Given the description of an element on the screen output the (x, y) to click on. 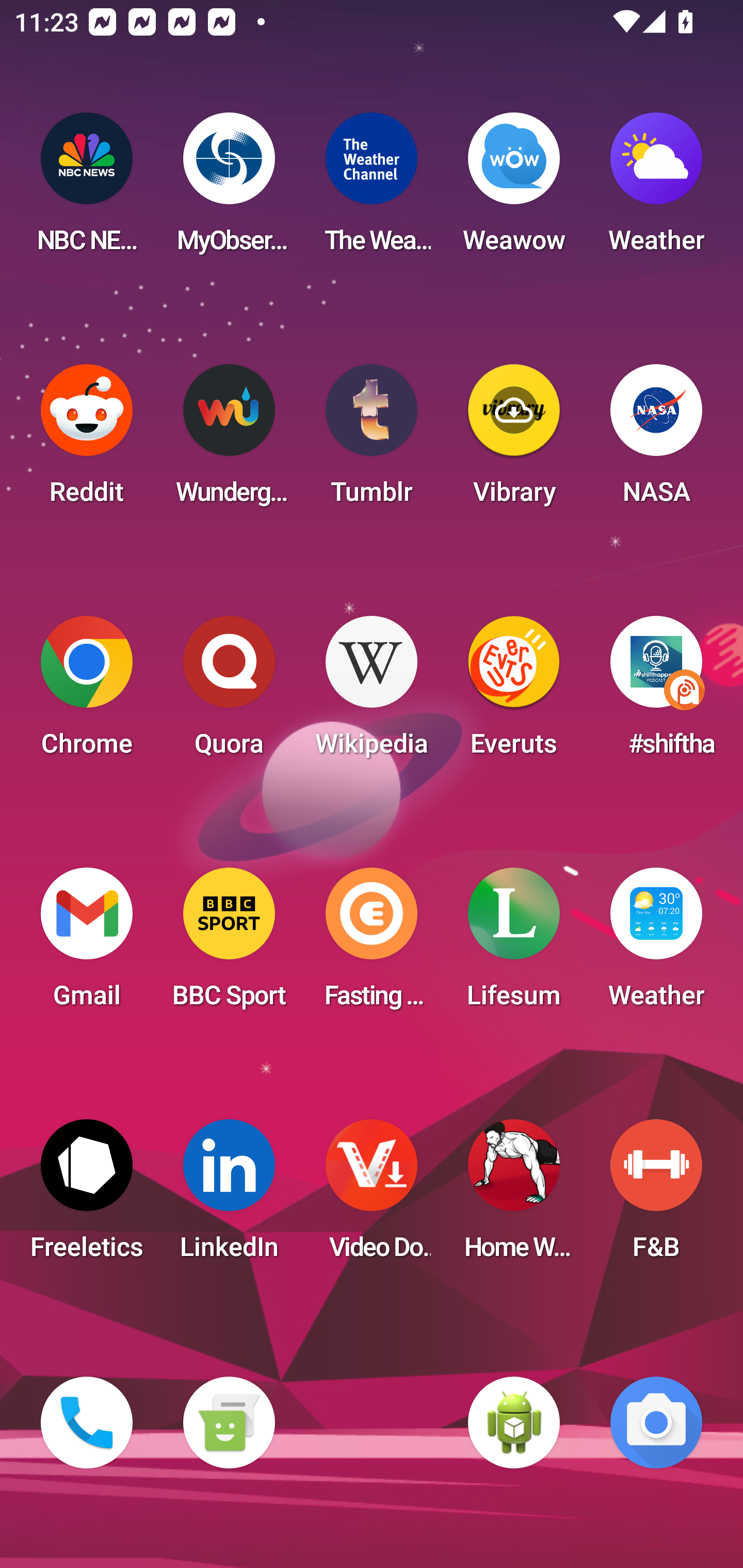
NBC NEWS (86, 188)
MyObservatory (228, 188)
The Weather Channel (371, 188)
Weawow (513, 188)
Weather (656, 188)
Reddit (86, 440)
Wunderground (228, 440)
Tumblr (371, 440)
Vibrary (513, 440)
NASA (656, 440)
Chrome (86, 692)
Quora (228, 692)
Wikipedia (371, 692)
Everuts (513, 692)
#shifthappens in the Digital Workplace Podcast (656, 692)
Gmail (86, 943)
BBC Sport (228, 943)
Fasting Coach (371, 943)
Lifesum (513, 943)
Weather (656, 943)
Freeletics (86, 1195)
LinkedIn (228, 1195)
Video Downloader & Ace Player (371, 1195)
Home Workout (513, 1195)
F&B (656, 1195)
Phone (86, 1422)
Messaging (228, 1422)
WebView Browser Tester (513, 1422)
Camera (656, 1422)
